Given the description of an element on the screen output the (x, y) to click on. 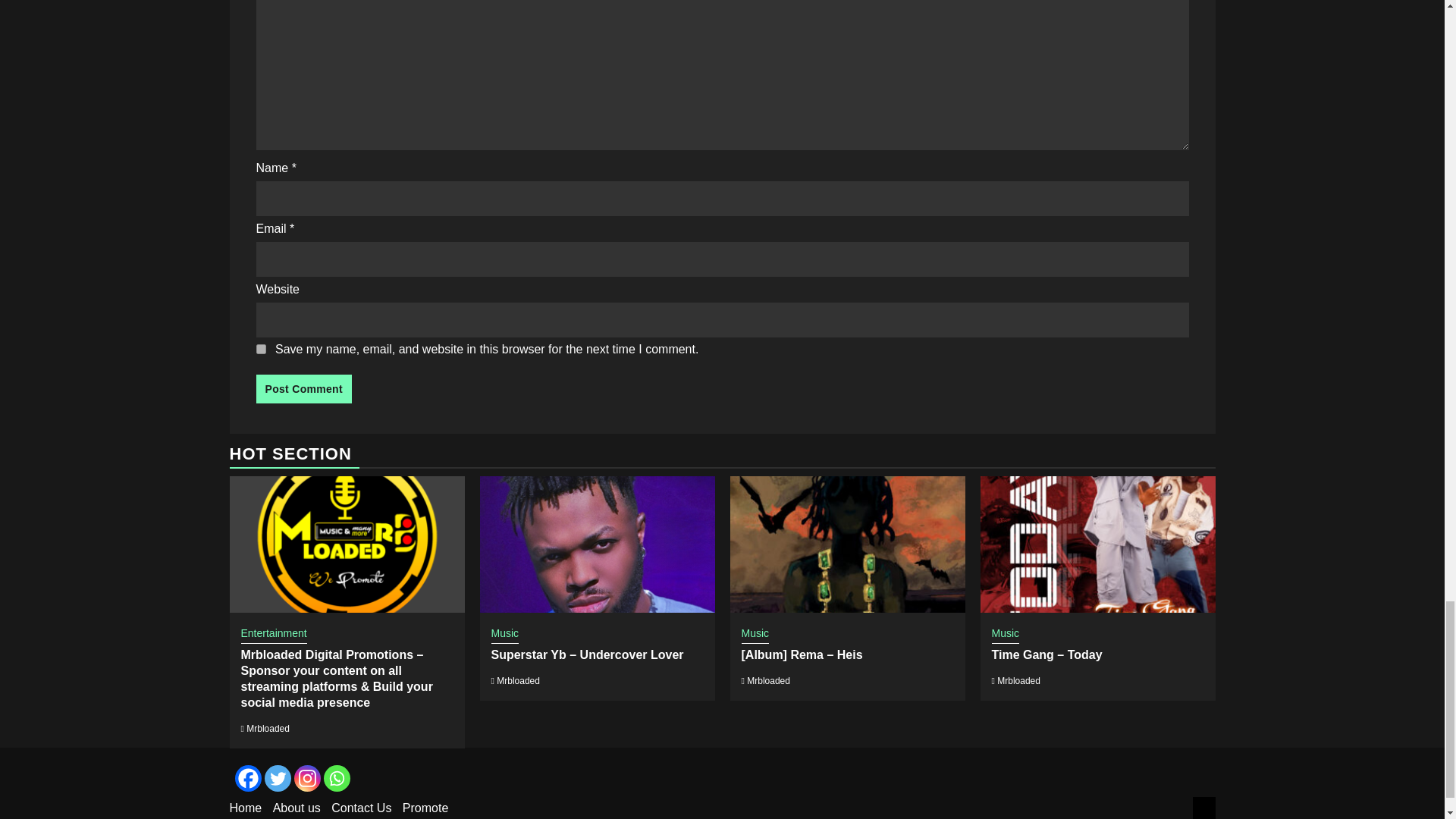
Facebook (248, 777)
Whatsapp (336, 777)
Instagram (307, 777)
Post Comment (304, 388)
yes (261, 348)
Twitter (276, 777)
